Given the description of an element on the screen output the (x, y) to click on. 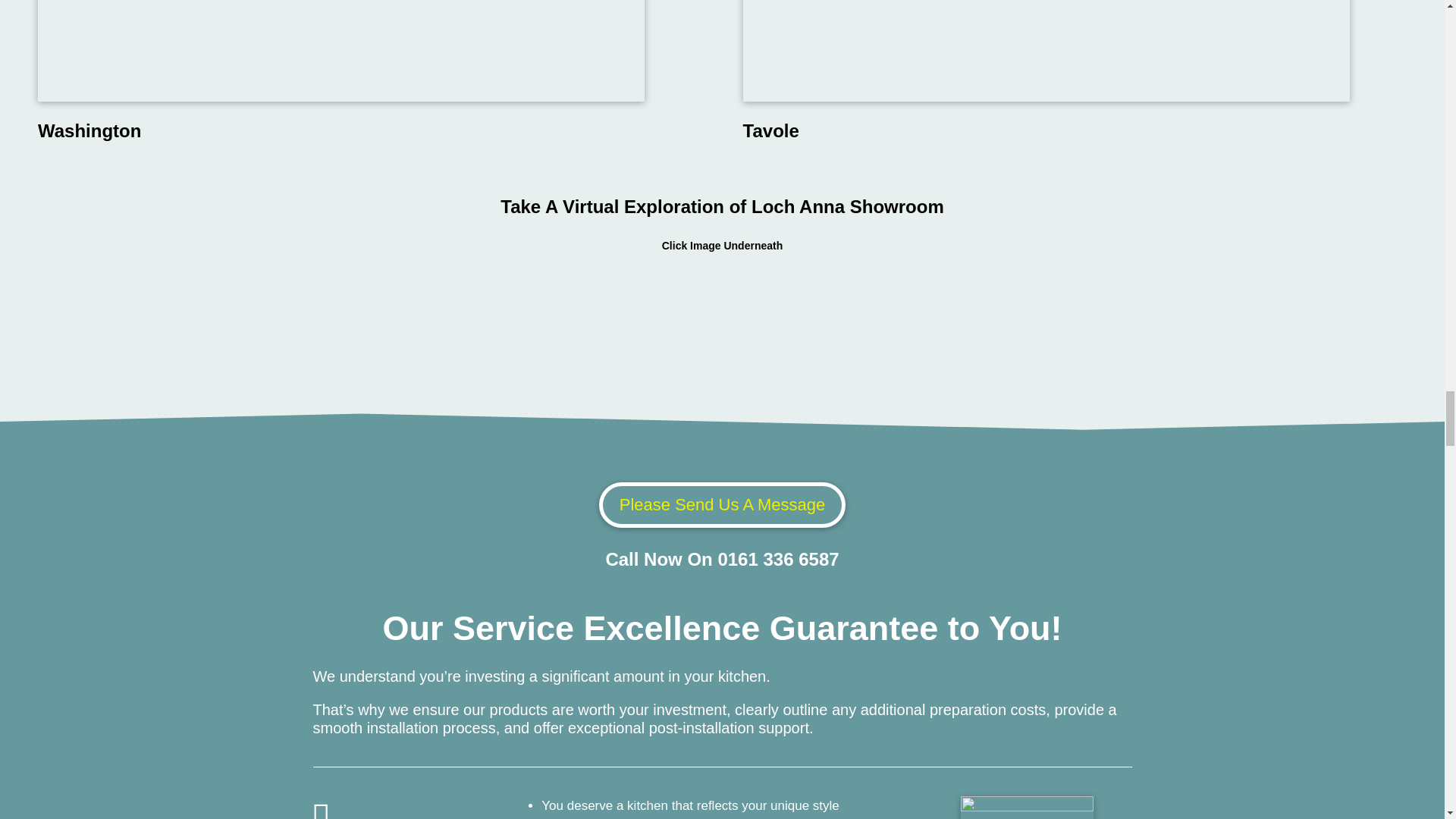
Call Now On 0161 336 6587 (721, 558)
Please Send Us A Message (721, 505)
